Given the description of an element on the screen output the (x, y) to click on. 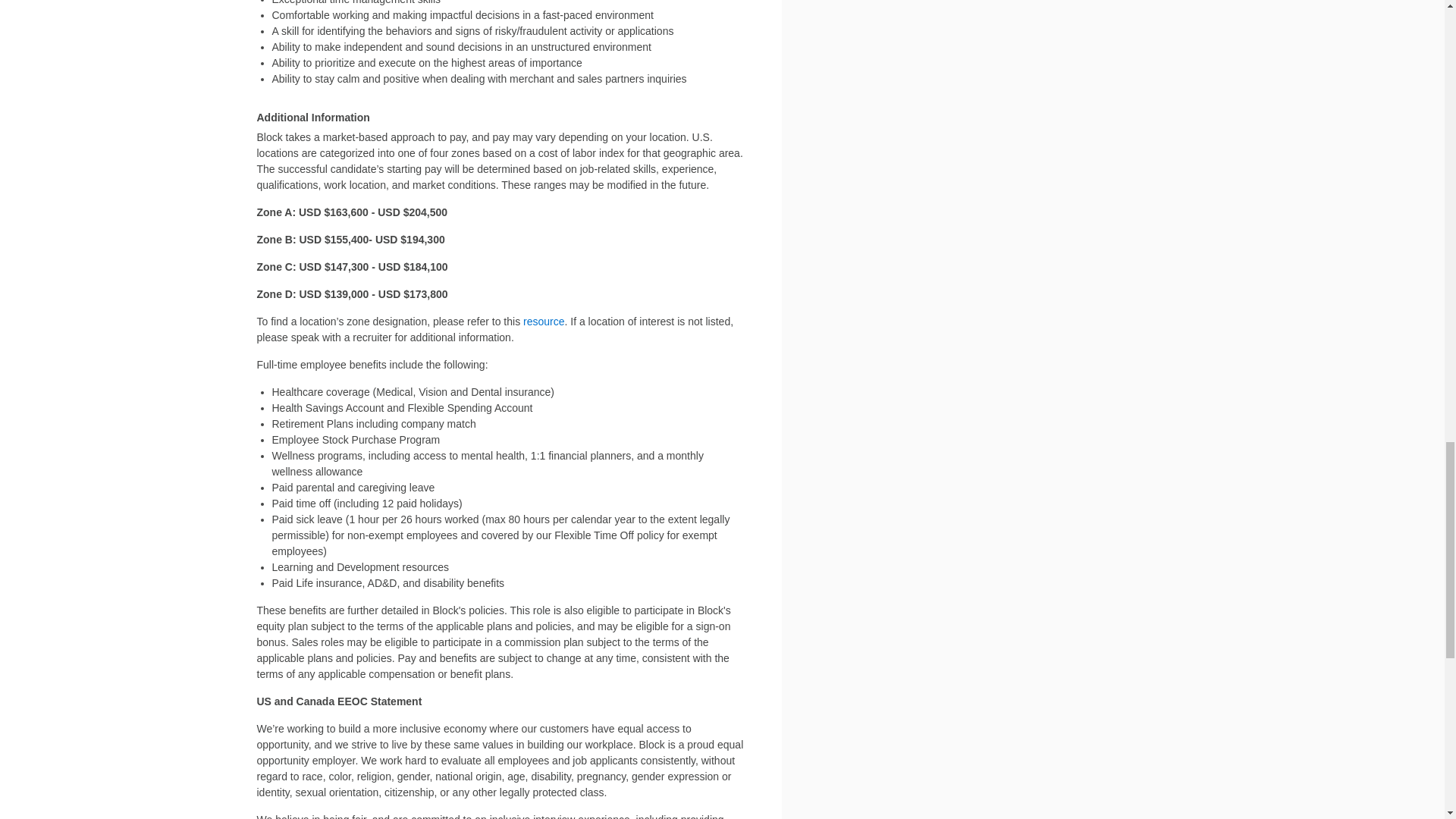
resource (543, 321)
